Given the description of an element on the screen output the (x, y) to click on. 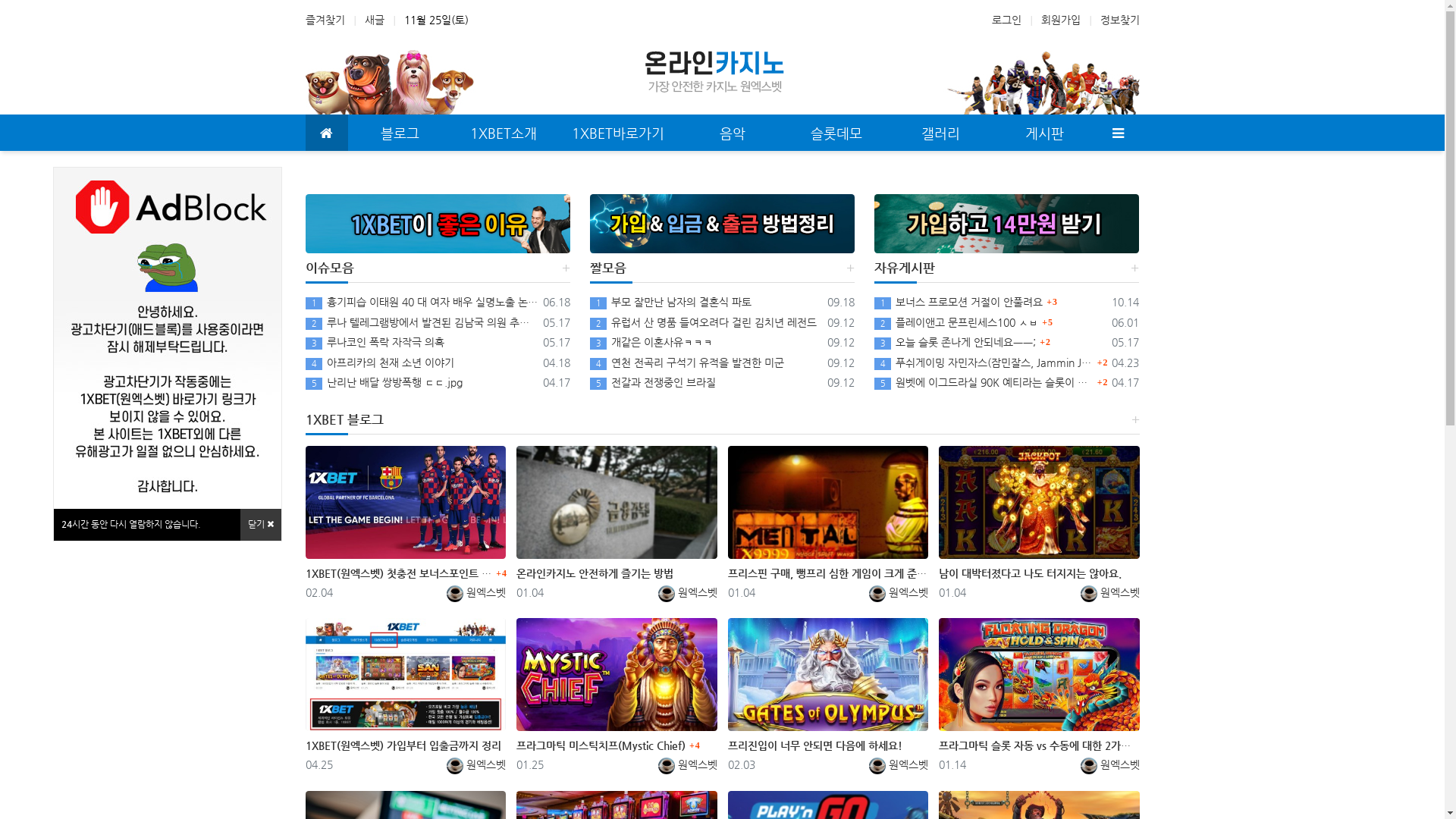
22aa92fb2871062caf7e7a81acc13cc8_1681853960_8785.jpg Element type: hover (167, 337)
